Given the description of an element on the screen output the (x, y) to click on. 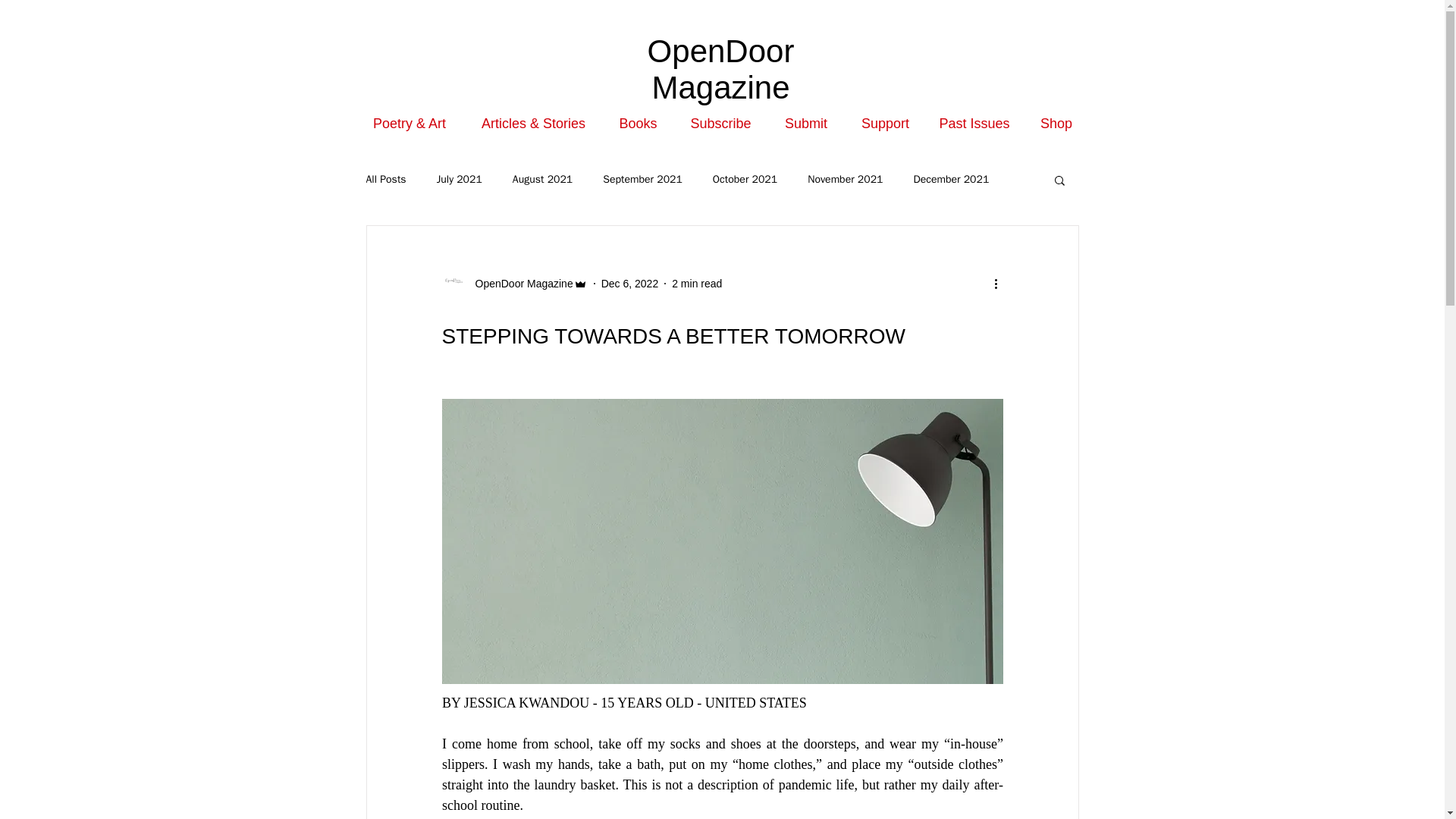
July 2021 (458, 179)
September 2021 (642, 179)
October 2021 (745, 179)
December 2021 (950, 179)
Dec 6, 2022 (630, 283)
Shop (1055, 122)
August 2021 (542, 179)
2 min read (696, 283)
OpenDoor Magazine (720, 69)
OpenDoor Magazine (518, 283)
Support (885, 122)
OpenDoor Magazine (513, 283)
Past Issues (974, 122)
Subscribe (719, 122)
All Posts (385, 179)
